Given the description of an element on the screen output the (x, y) to click on. 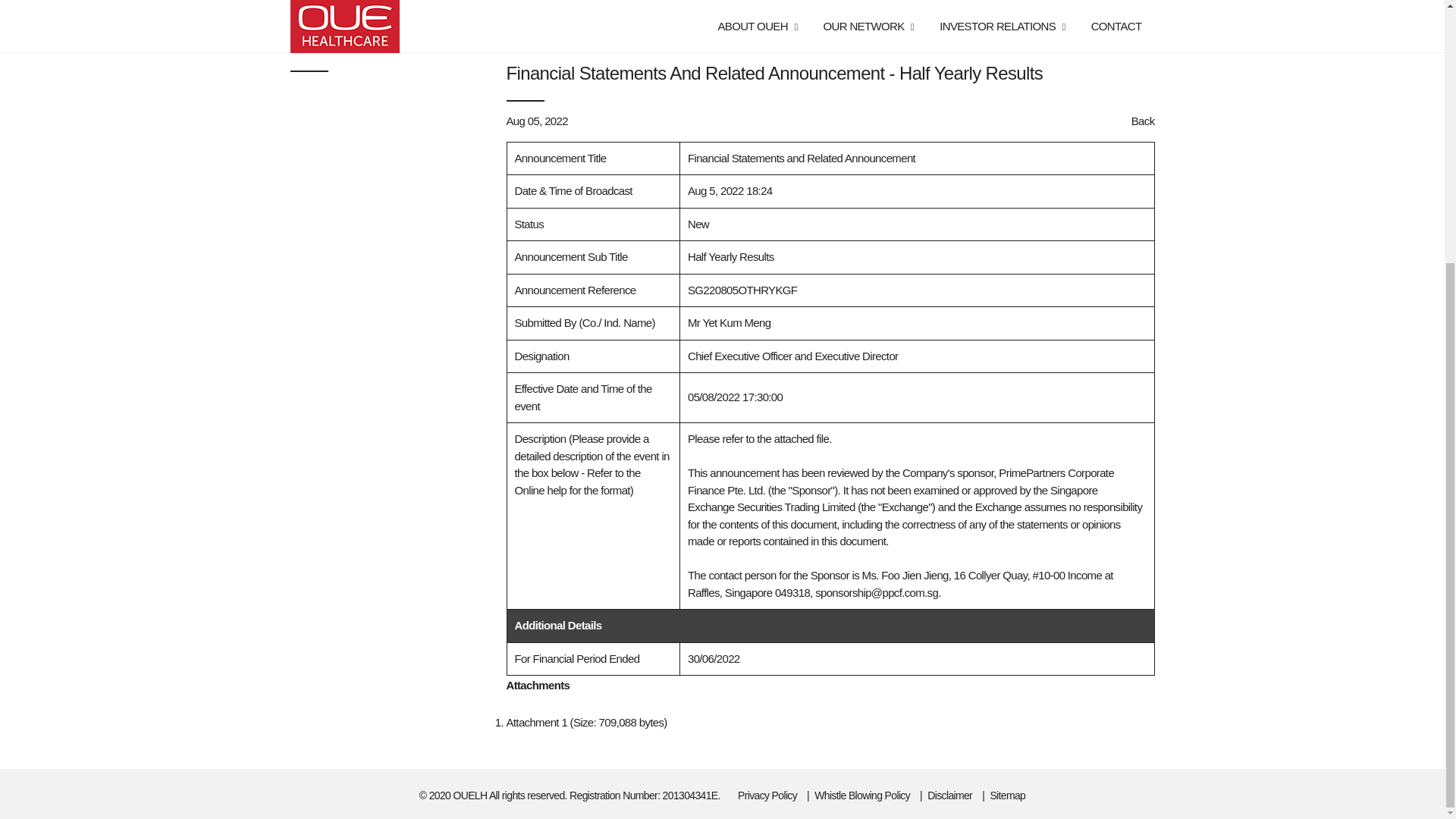
Back (1142, 120)
